Given the description of an element on the screen output the (x, y) to click on. 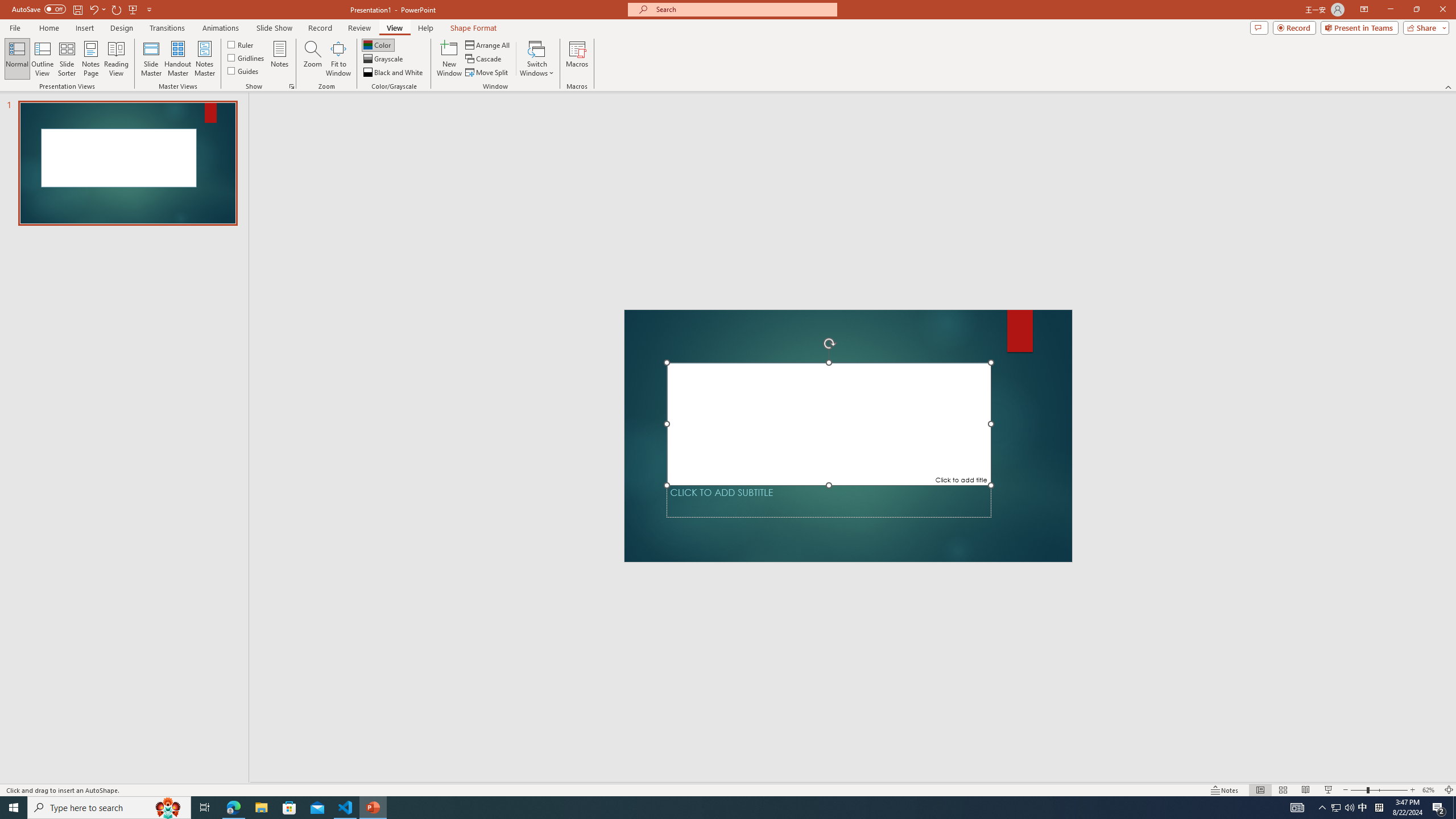
Grayscale (383, 58)
Ruler (241, 44)
Notes (279, 58)
Notes Master (204, 58)
Fit to Window (338, 58)
Color (377, 44)
